Given the description of an element on the screen output the (x, y) to click on. 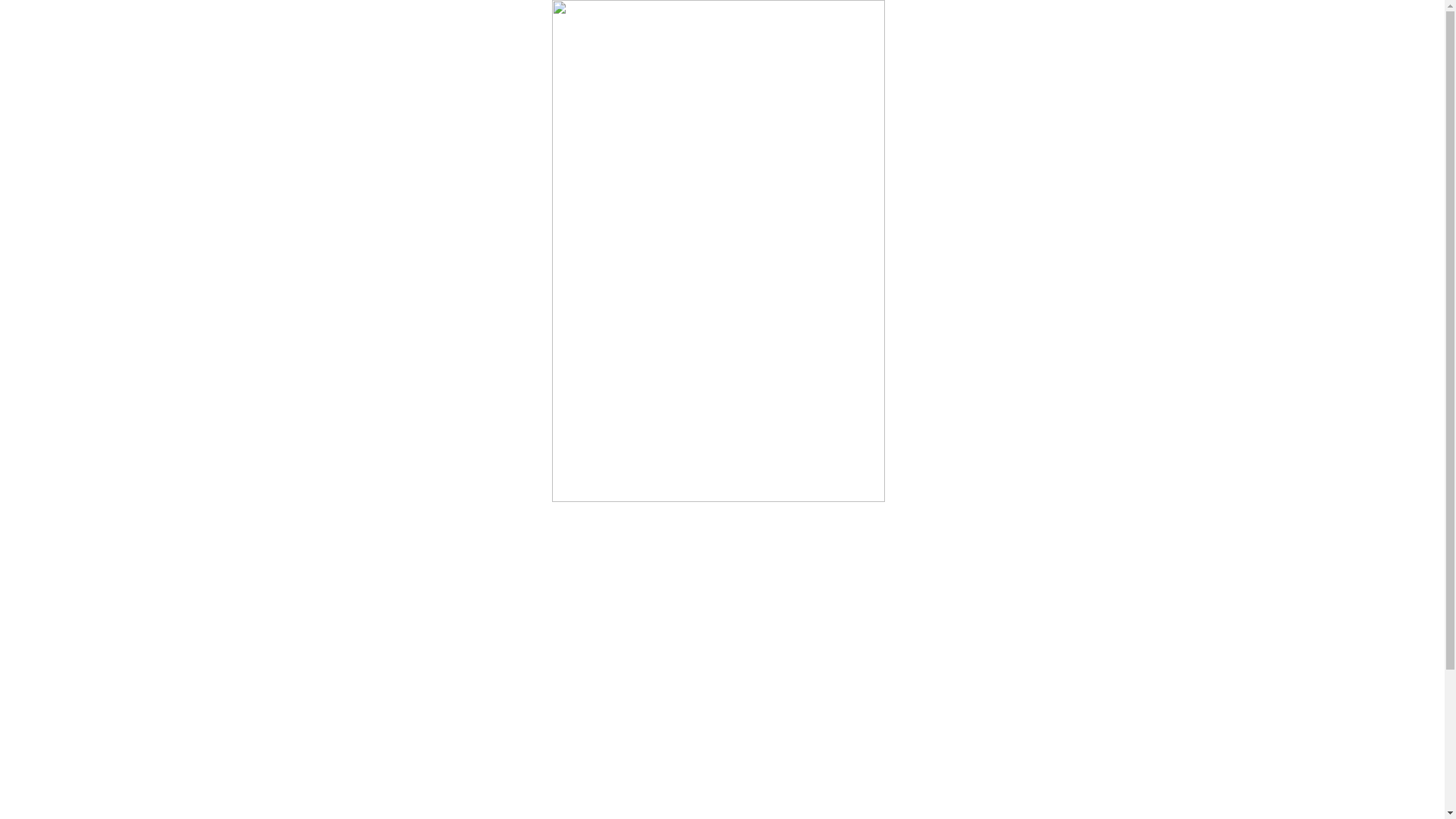
daten.html Element type: hover (718, 497)
